Given the description of an element on the screen output the (x, y) to click on. 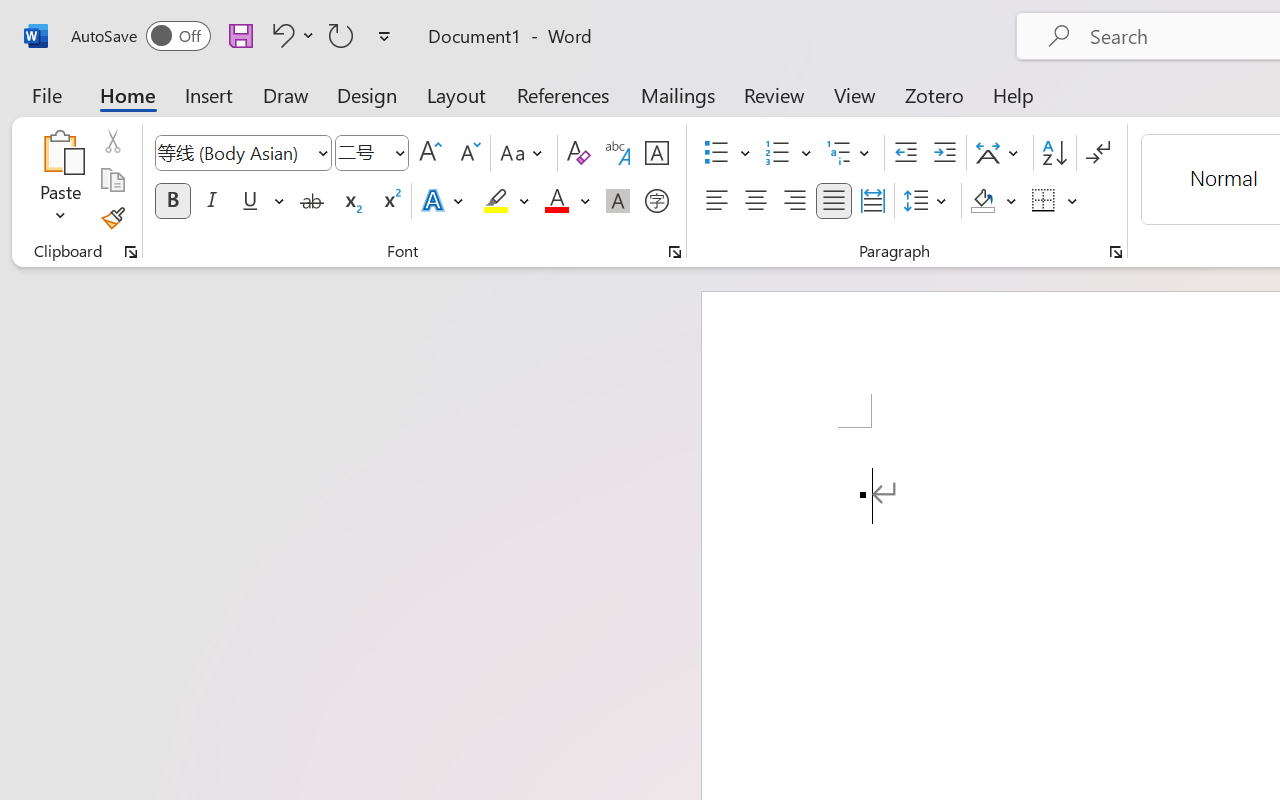
Undo Apply Quick Style (290, 35)
